Given the description of an element on the screen output the (x, y) to click on. 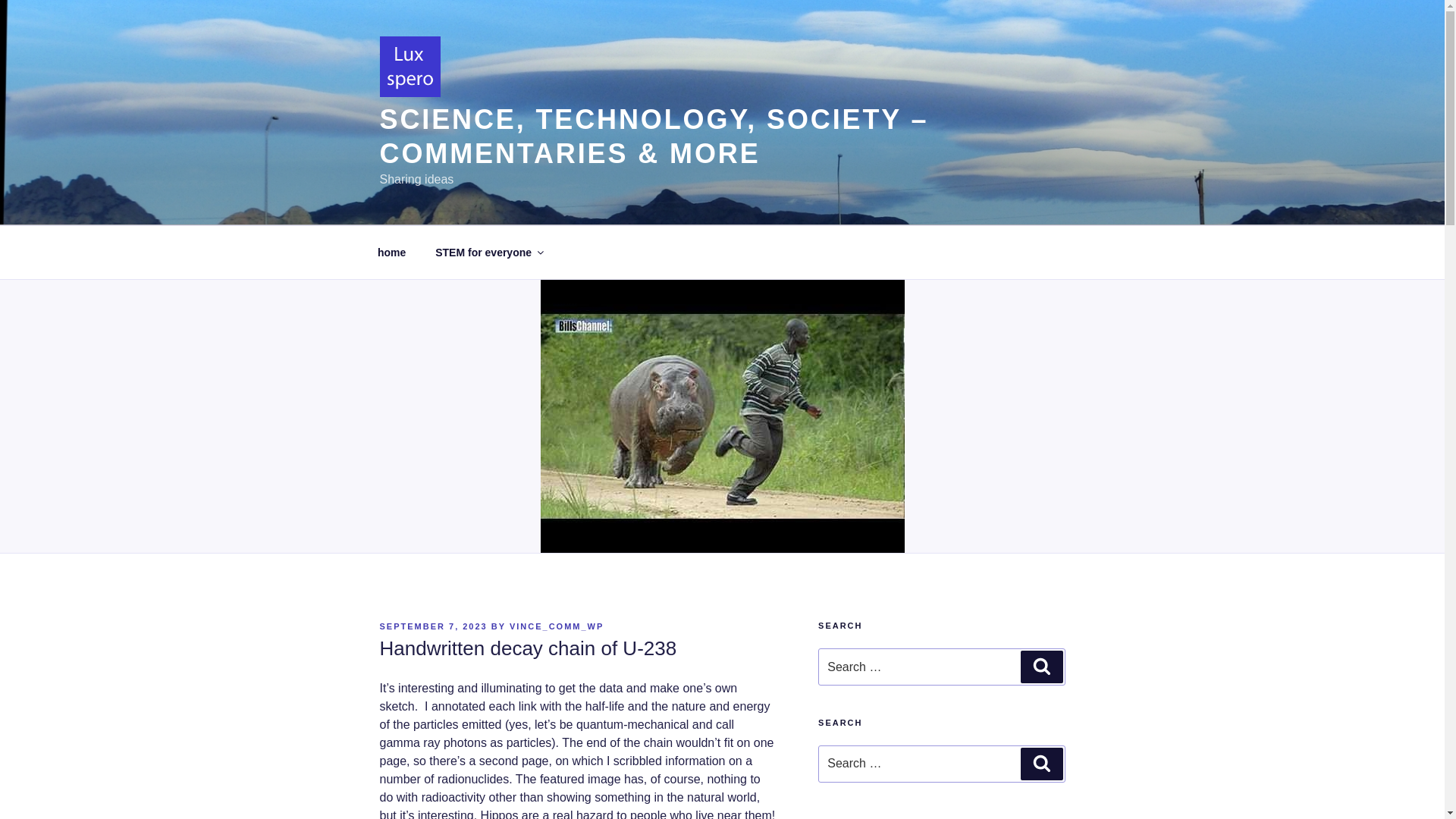
Search (1041, 666)
STEM for everyone (489, 252)
SEPTEMBER 7, 2023 (432, 625)
Search (1041, 763)
home (391, 252)
